Given the description of an element on the screen output the (x, y) to click on. 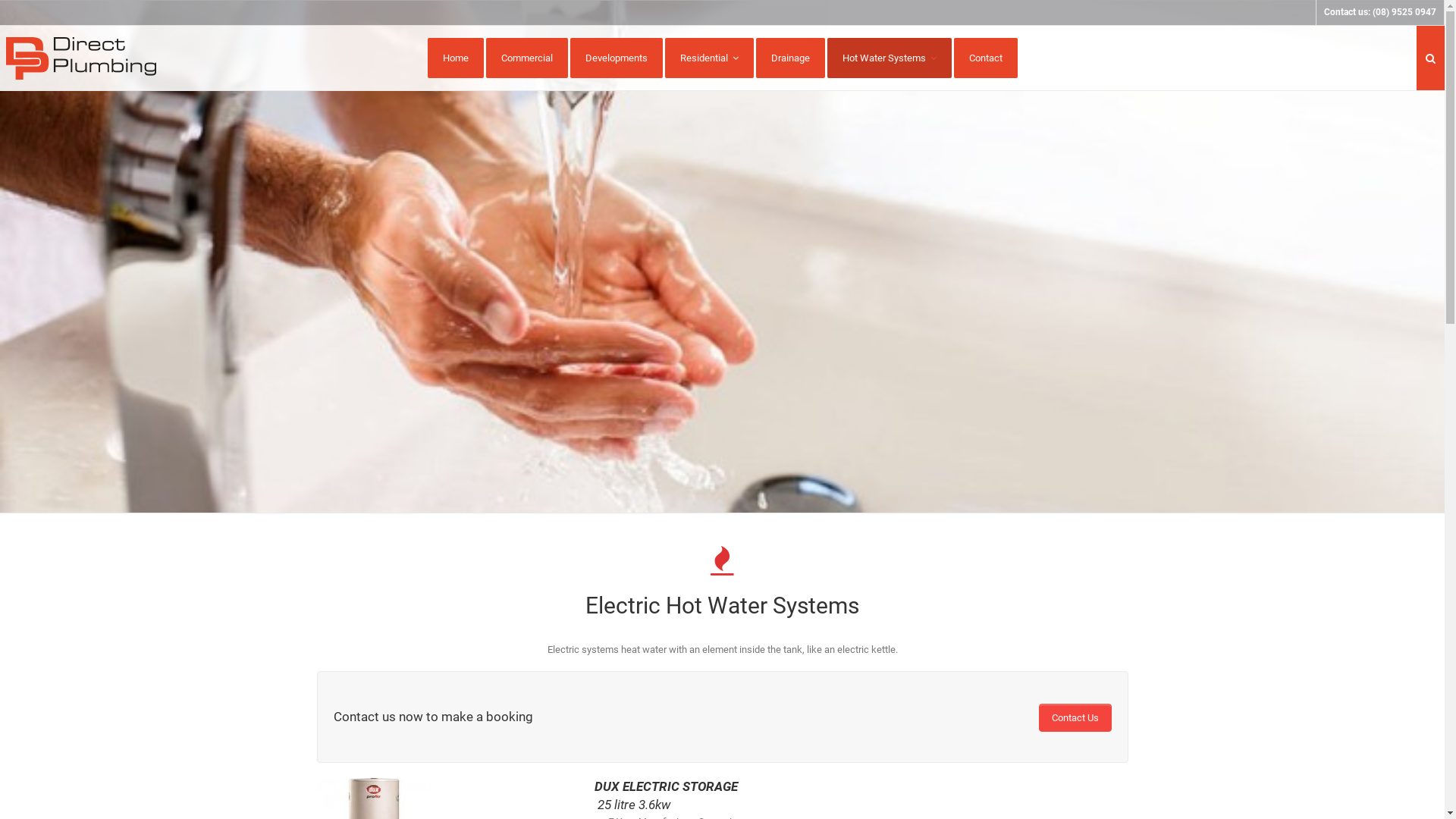
Drainage Element type: text (789, 57)
Home Element type: text (455, 57)
Developments Element type: text (616, 57)
Hot Water Systems Element type: text (888, 57)
Residential Element type: text (708, 57)
Contact Element type: text (985, 57)
Contact Us Element type: text (1074, 717)
Commercial Element type: text (526, 57)
